Given the description of an element on the screen output the (x, y) to click on. 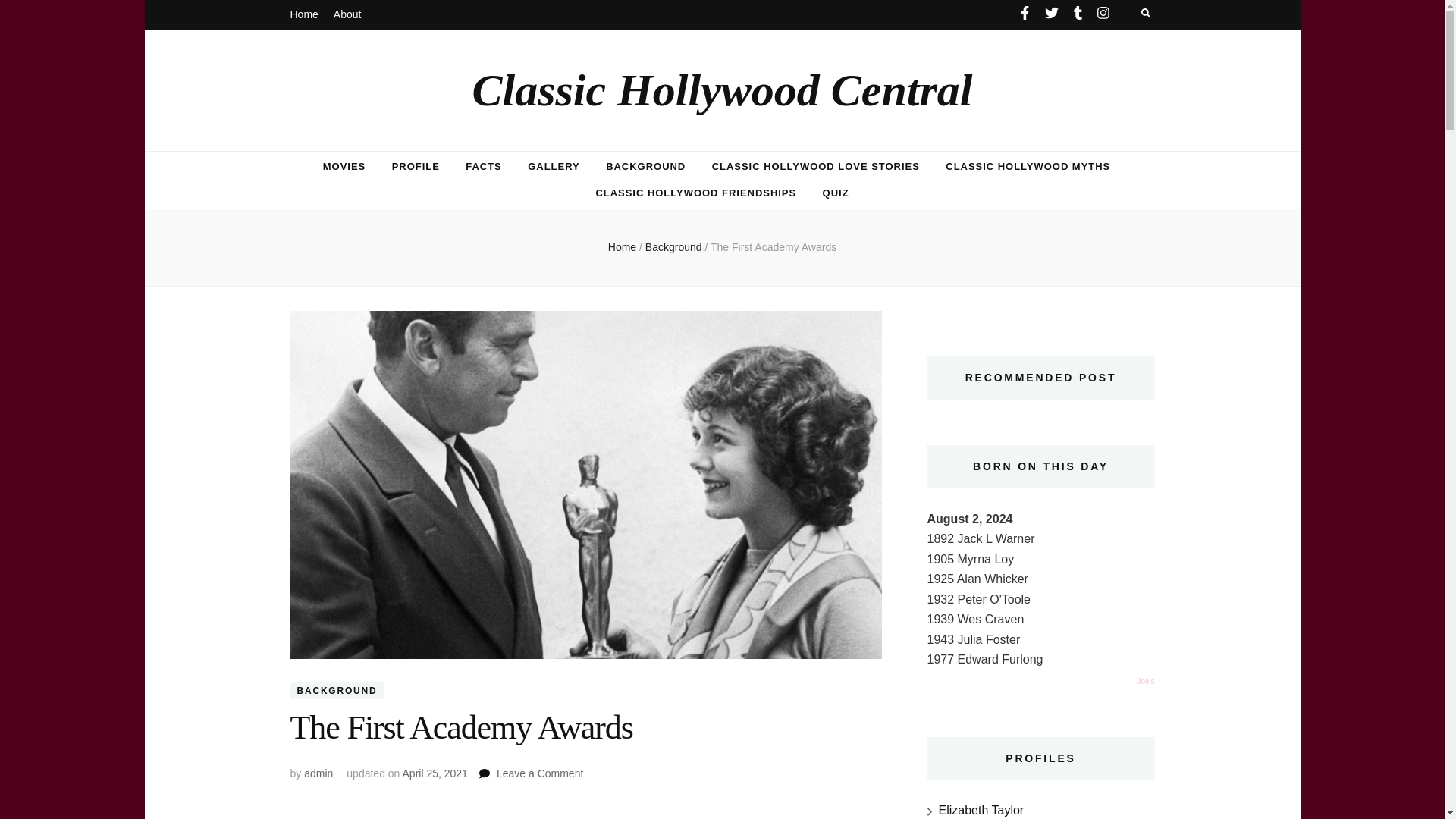
CLASSIC HOLLYWOOD LOVE STORIES (815, 167)
PROFILE (415, 167)
CLASSIC HOLLYWOOD MYTHS (1026, 167)
MOVIES (344, 167)
The First Academy Awards (539, 773)
BACKGROUND (772, 246)
Background (336, 690)
About (674, 246)
FACTS (347, 15)
